Given the description of an element on the screen output the (x, y) to click on. 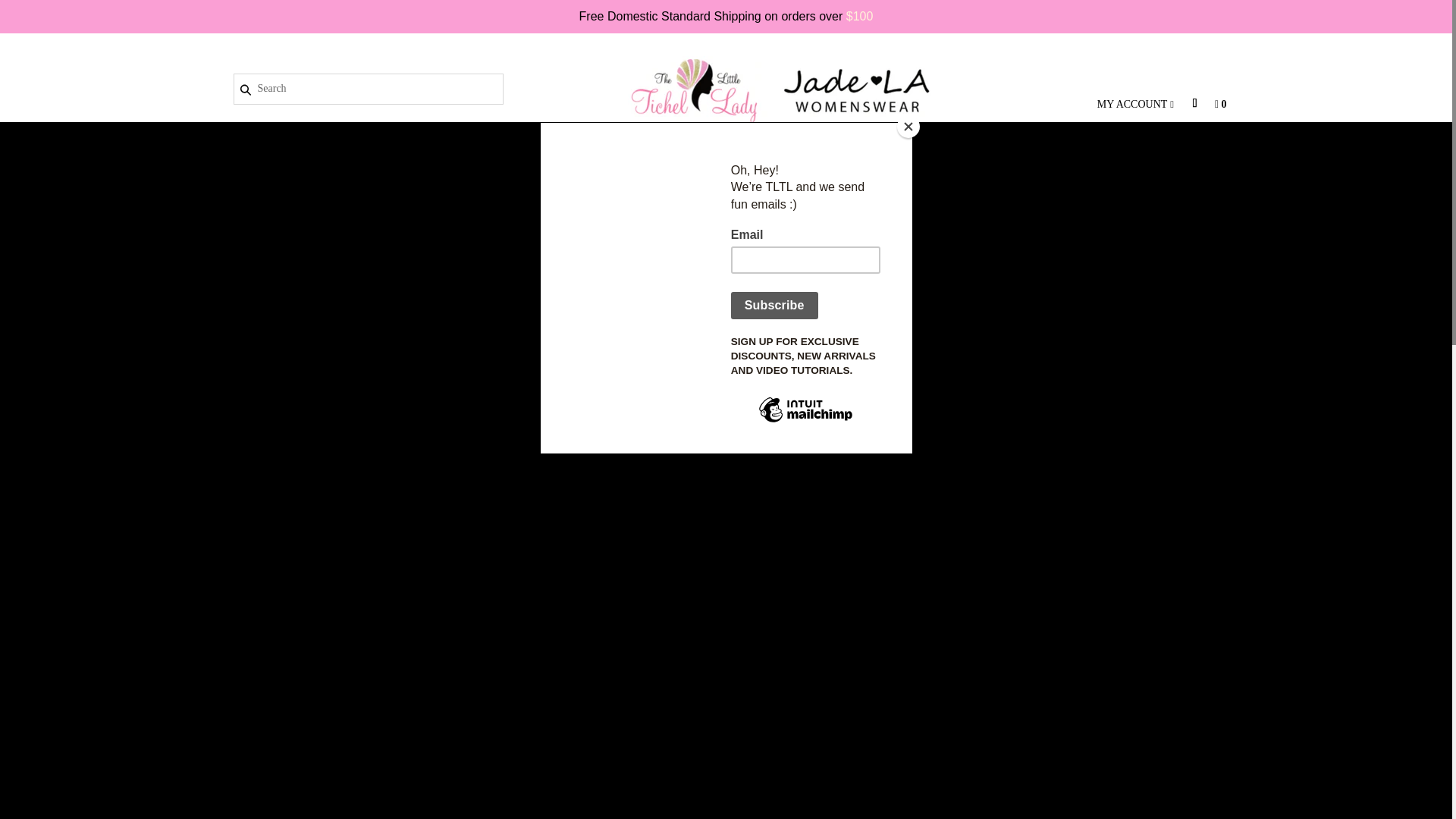
ADD TO WISHLIST (1433, 195)
1 (938, 405)
Home (328, 210)
